Given the description of an element on the screen output the (x, y) to click on. 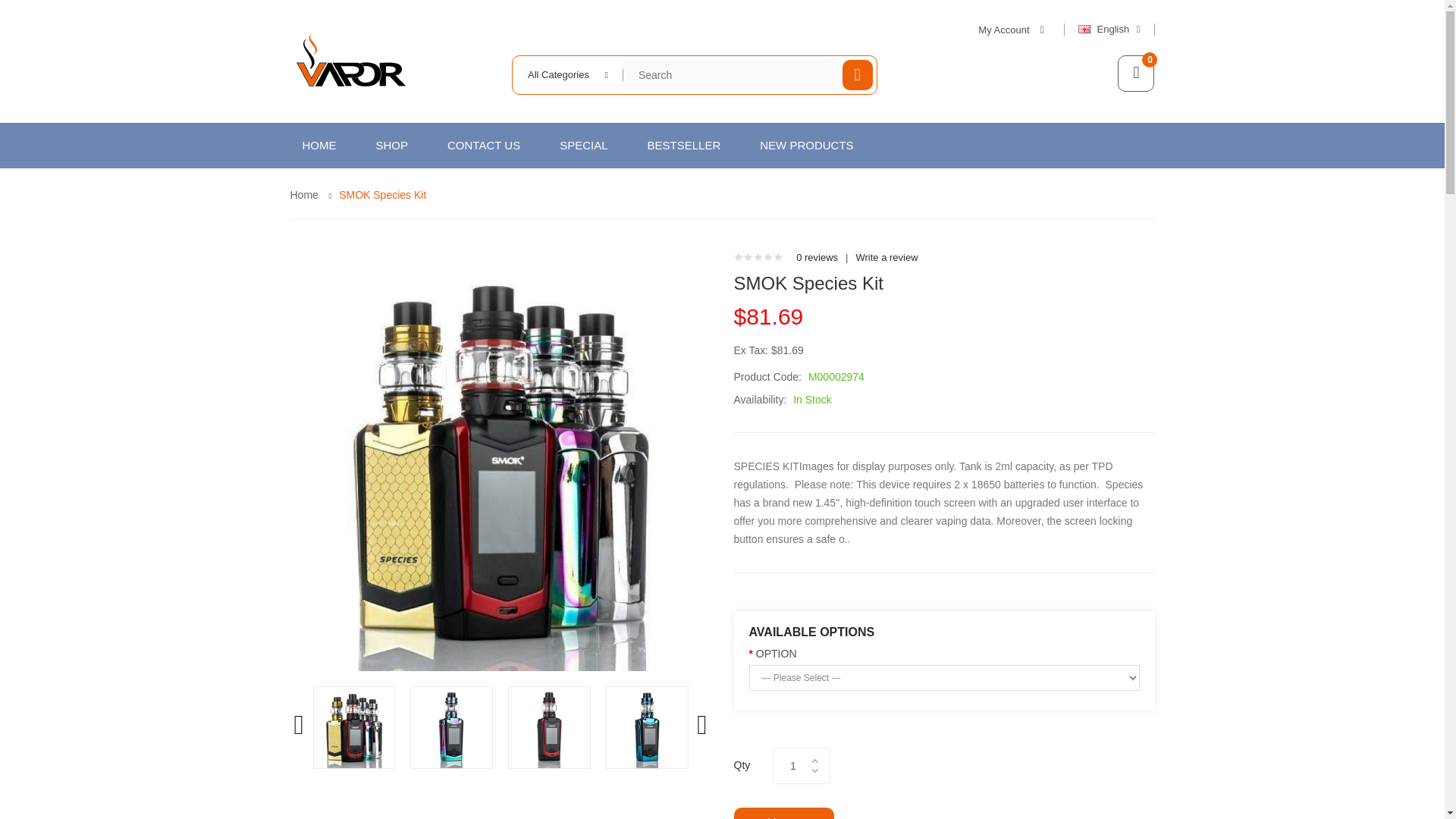
SMOK Species Kit (354, 727)
English (1116, 29)
SMOK Species Kit (354, 726)
SMOK Species Kit (548, 726)
1 (792, 765)
My Account (1013, 29)
0 (1136, 73)
NEW PRODUCTS (805, 145)
SMOK Species Kit (548, 727)
Home (303, 194)
- (814, 770)
CONTACT US (484, 145)
SMOK Species Kit (382, 194)
SMOK Species Kit (451, 726)
SMOK Species Kit (647, 727)
